Given the description of an element on the screen output the (x, y) to click on. 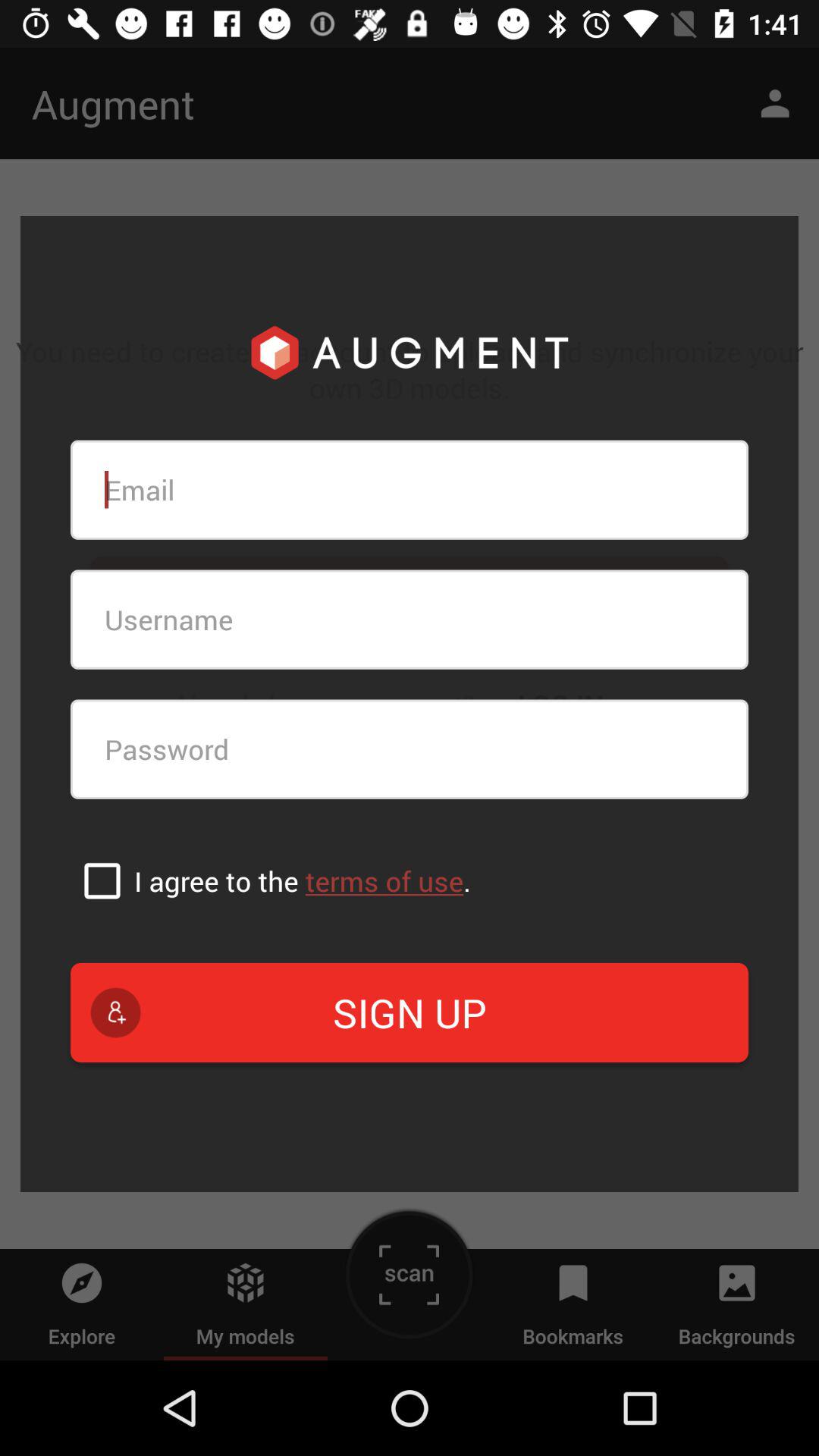
click sign up item (409, 1012)
